Given the description of an element on the screen output the (x, y) to click on. 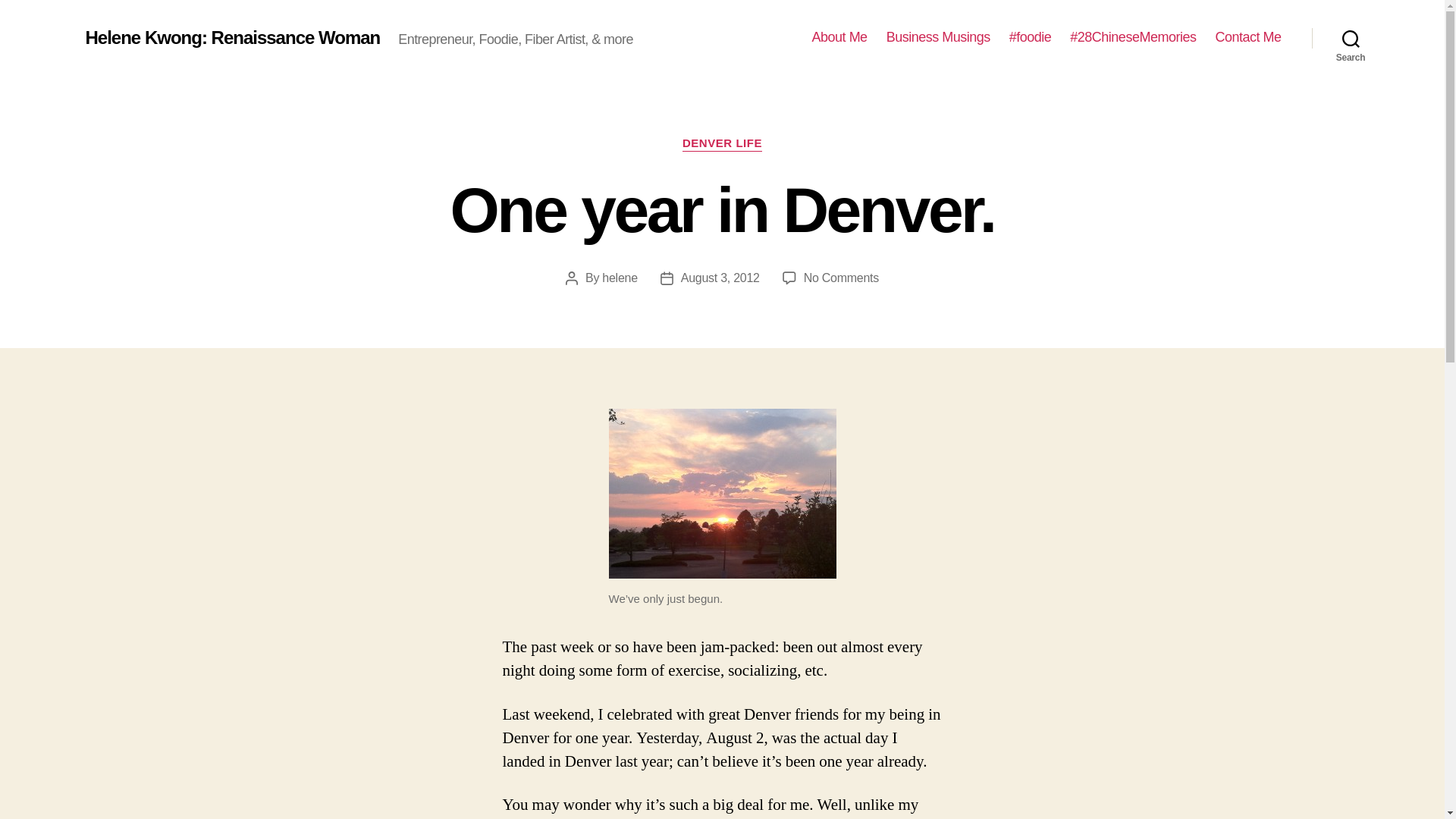
Search (1350, 37)
About Me (839, 37)
Contact Me (1247, 37)
DENVER LIFE (841, 277)
Helene Kwong: Renaissance Woman (721, 143)
August 3, 2012 (232, 37)
Business Musings (720, 277)
helene (938, 37)
